Given the description of an element on the screen output the (x, y) to click on. 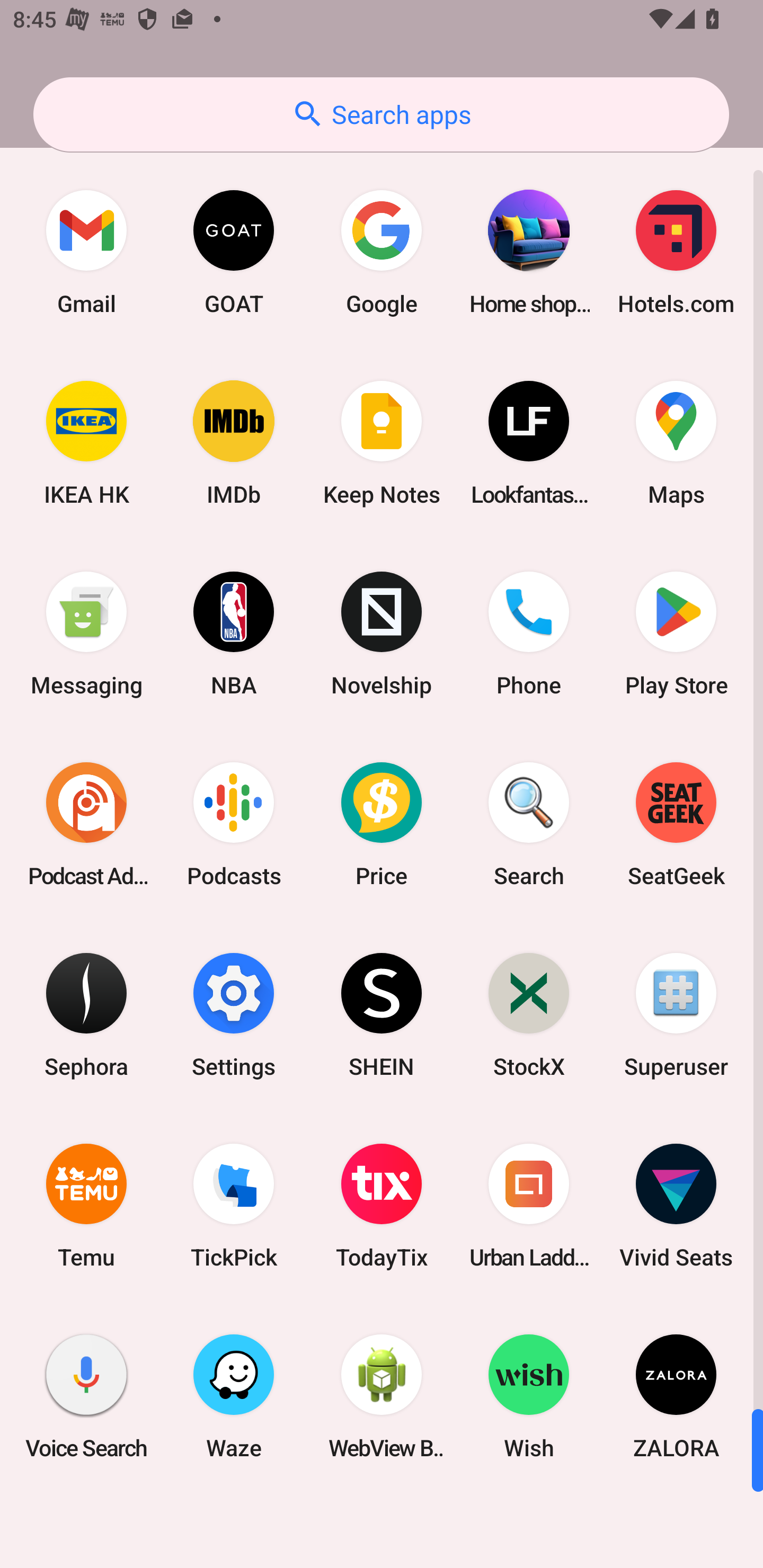
  Search apps (381, 114)
Gmail (86, 252)
GOAT (233, 252)
Google (381, 252)
Home shopping (528, 252)
Hotels.com (676, 252)
IKEA HK (86, 442)
IMDb (233, 442)
Keep Notes (381, 442)
Lookfantastic (528, 442)
Maps (676, 442)
Messaging (86, 633)
NBA (233, 633)
Novelship (381, 633)
Phone (528, 633)
Play Store (676, 633)
Podcast Addict (86, 823)
Podcasts (233, 823)
Price (381, 823)
Search (528, 823)
SeatGeek (676, 823)
Sephora (86, 1014)
Settings (233, 1014)
SHEIN (381, 1014)
StockX (528, 1014)
Superuser (676, 1014)
Temu (86, 1205)
TickPick (233, 1205)
TodayTix (381, 1205)
Urban Ladder (528, 1205)
Vivid Seats (676, 1205)
Voice Search (86, 1396)
Waze (233, 1396)
WebView Browser Tester (381, 1396)
Wish (528, 1396)
ZALORA (676, 1396)
